Given the description of an element on the screen output the (x, y) to click on. 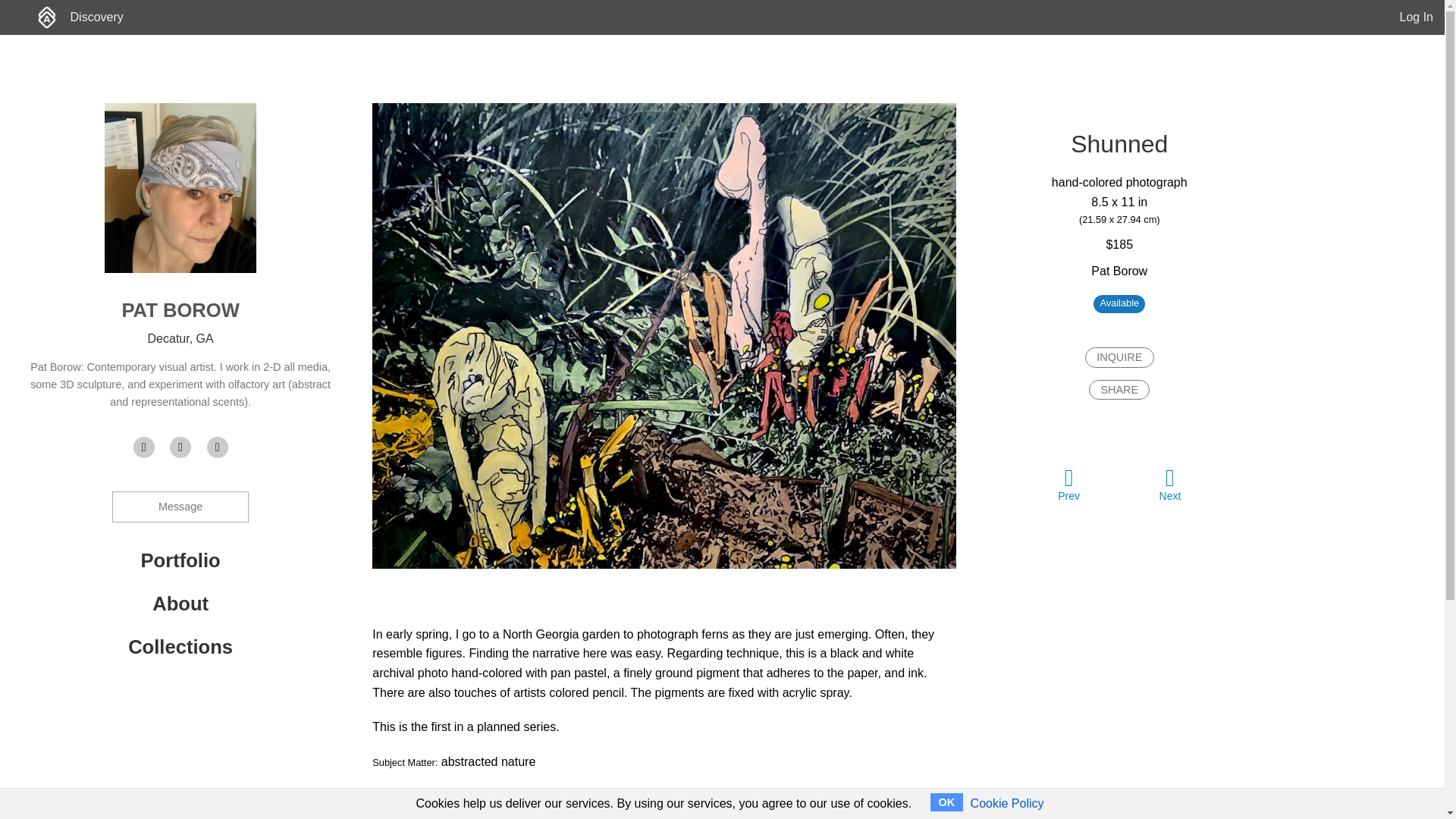
Next (1169, 483)
Facebook (180, 446)
About (180, 603)
SHARE (1119, 389)
Website (143, 446)
Log In (1415, 16)
Cookie Policy (1007, 802)
Discovery (96, 16)
Prev (1068, 483)
Collections (180, 646)
PAT BOROW (179, 310)
OK (946, 802)
Instagram (217, 446)
Message (180, 506)
Portfolio (181, 559)
